Given the description of an element on the screen output the (x, y) to click on. 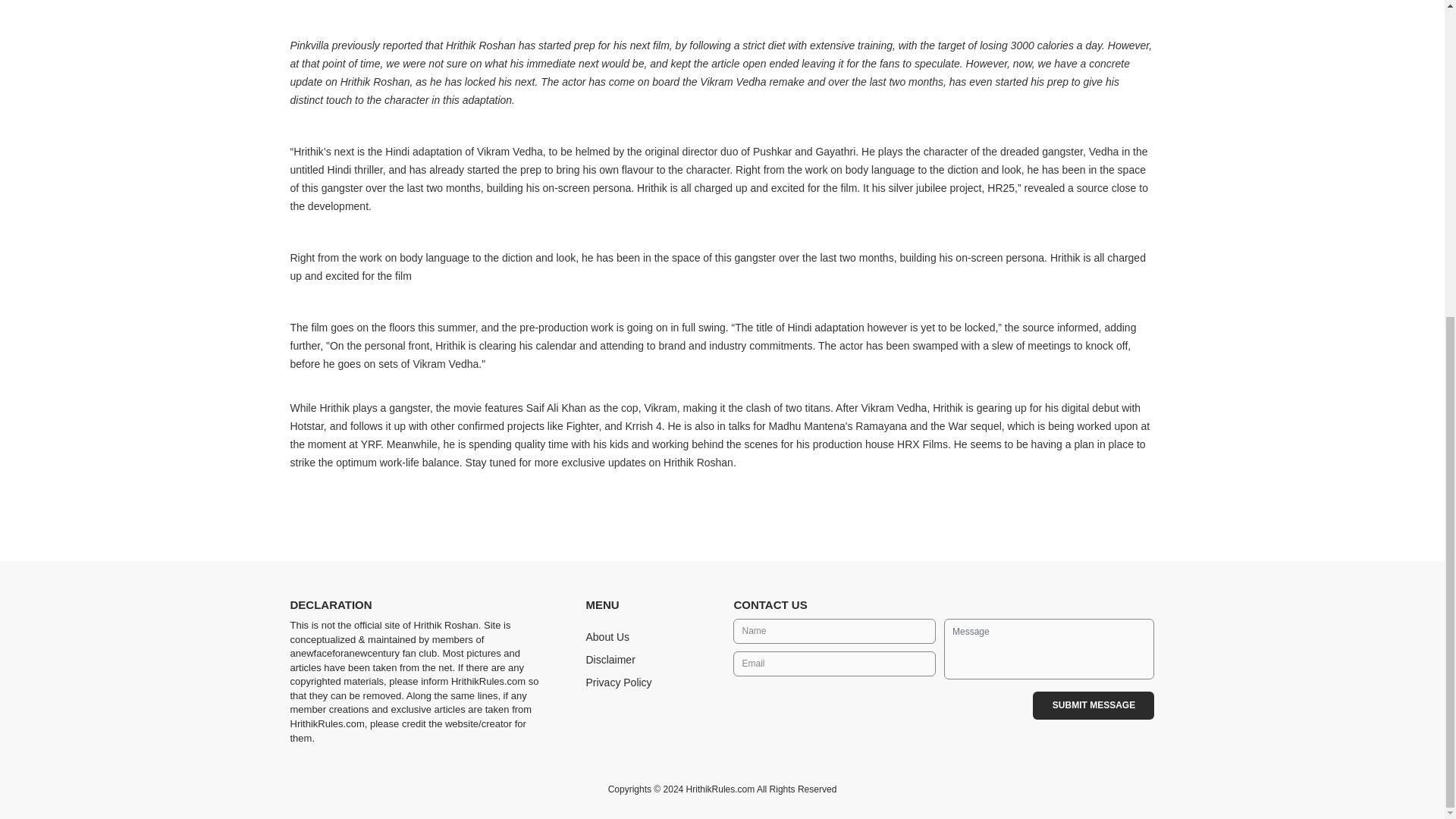
SUBMIT MESSAGE (1093, 705)
About Us (606, 636)
Disclaimer (609, 659)
Privacy Policy (617, 682)
